Given the description of an element on the screen output the (x, y) to click on. 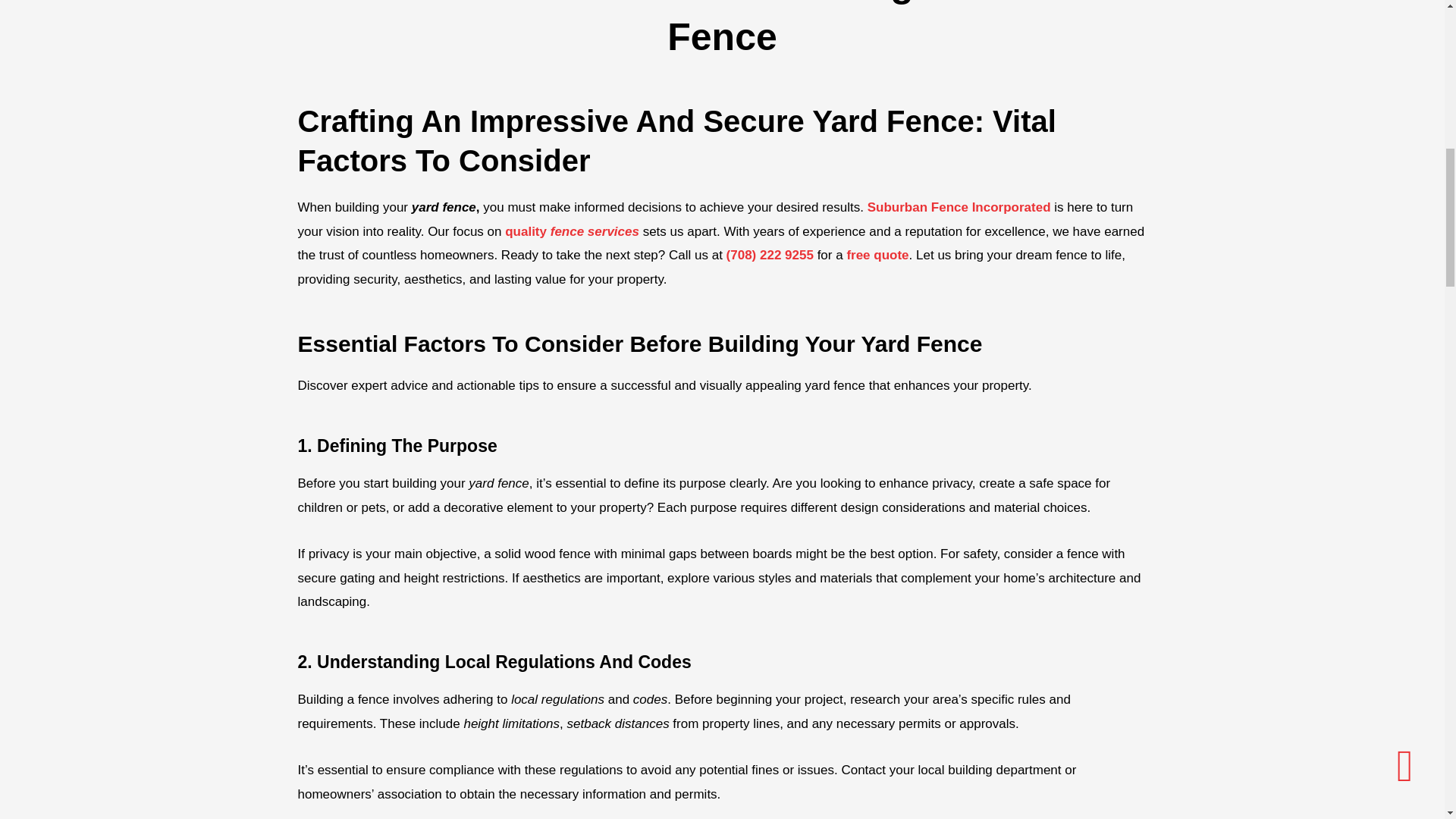
quality fence services (572, 231)
Suburban Fence Incorporated (959, 206)
free quote (876, 255)
